Given the description of an element on the screen output the (x, y) to click on. 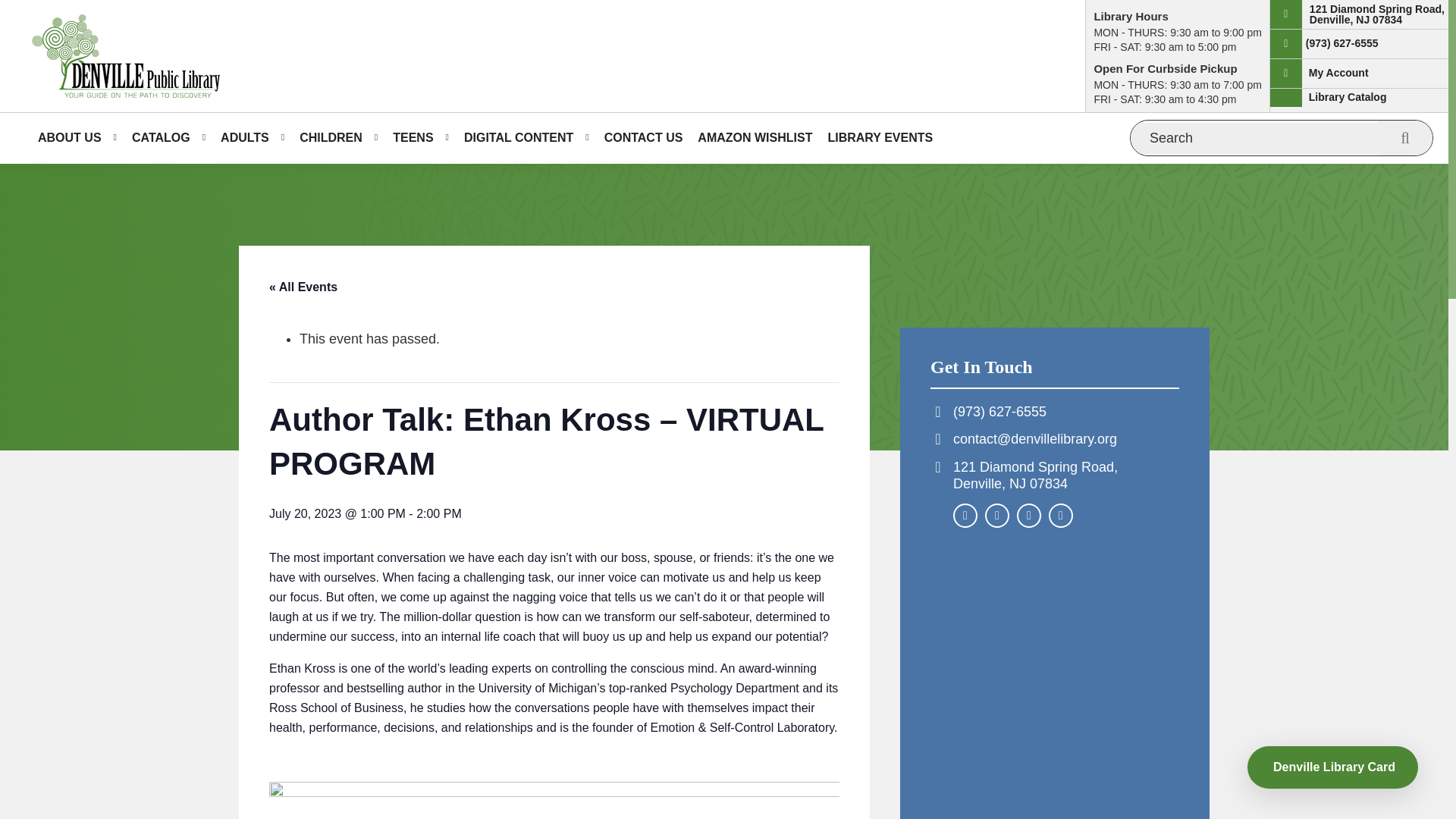
ADULTS (252, 138)
CATALOG (167, 138)
CHILDREN (338, 138)
ABOUT US (76, 138)
